Given the description of an element on the screen output the (x, y) to click on. 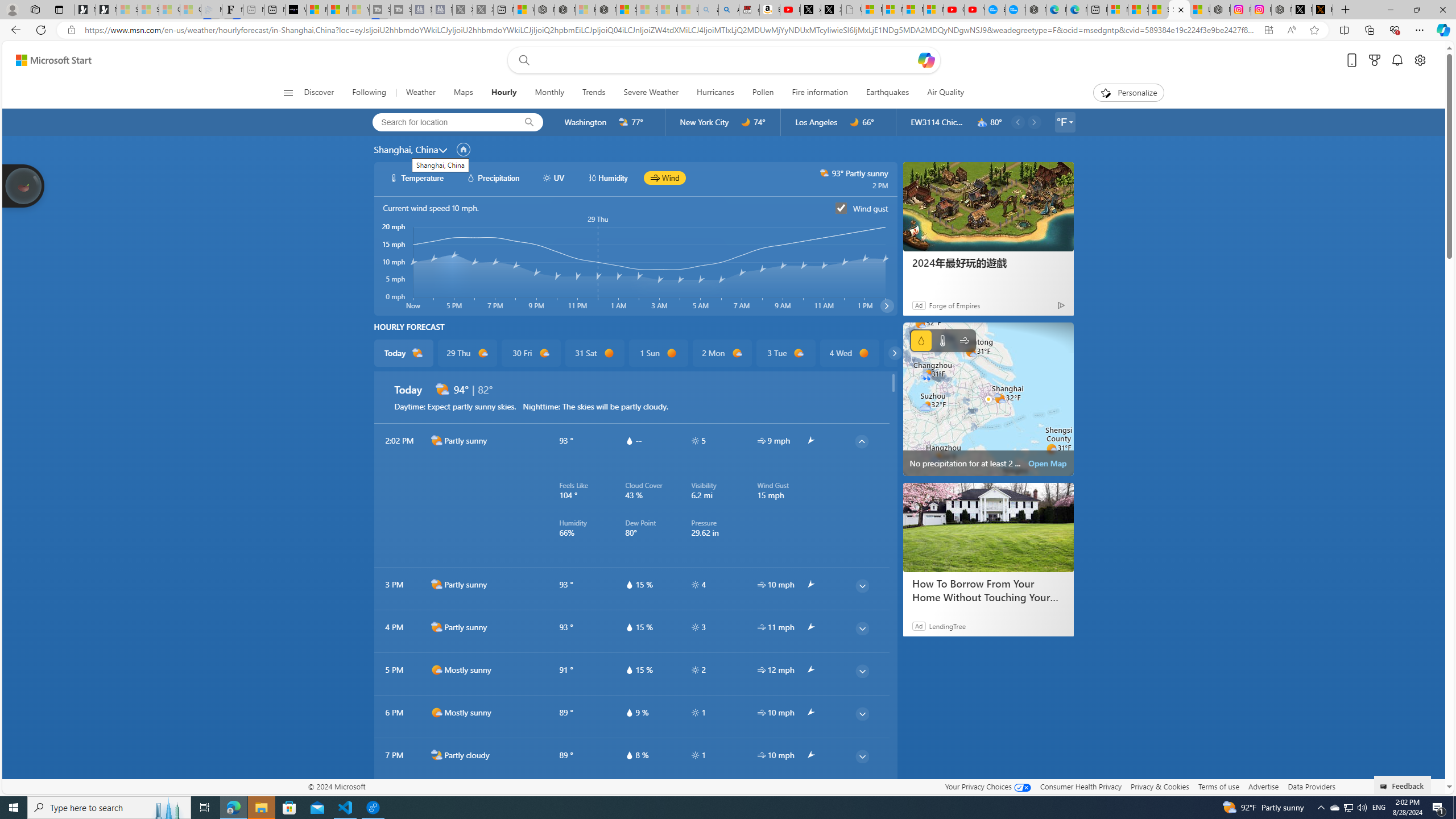
Nordace - Nordace Siena Is Not An Ordinary Backpack (606, 9)
locationName/setHomeLocation (462, 149)
Monthly (549, 92)
How To Borrow From Your Home Without Touching Your Mortgage (987, 590)
Class: button-glyph (287, 92)
Microsoft rewards (1374, 60)
Enter your search term (726, 59)
App available. Install Microsoft Start Weather (1268, 29)
Day 1: Arriving in Yemen (surreal to be here) - YouTube (789, 9)
